Given the description of an element on the screen output the (x, y) to click on. 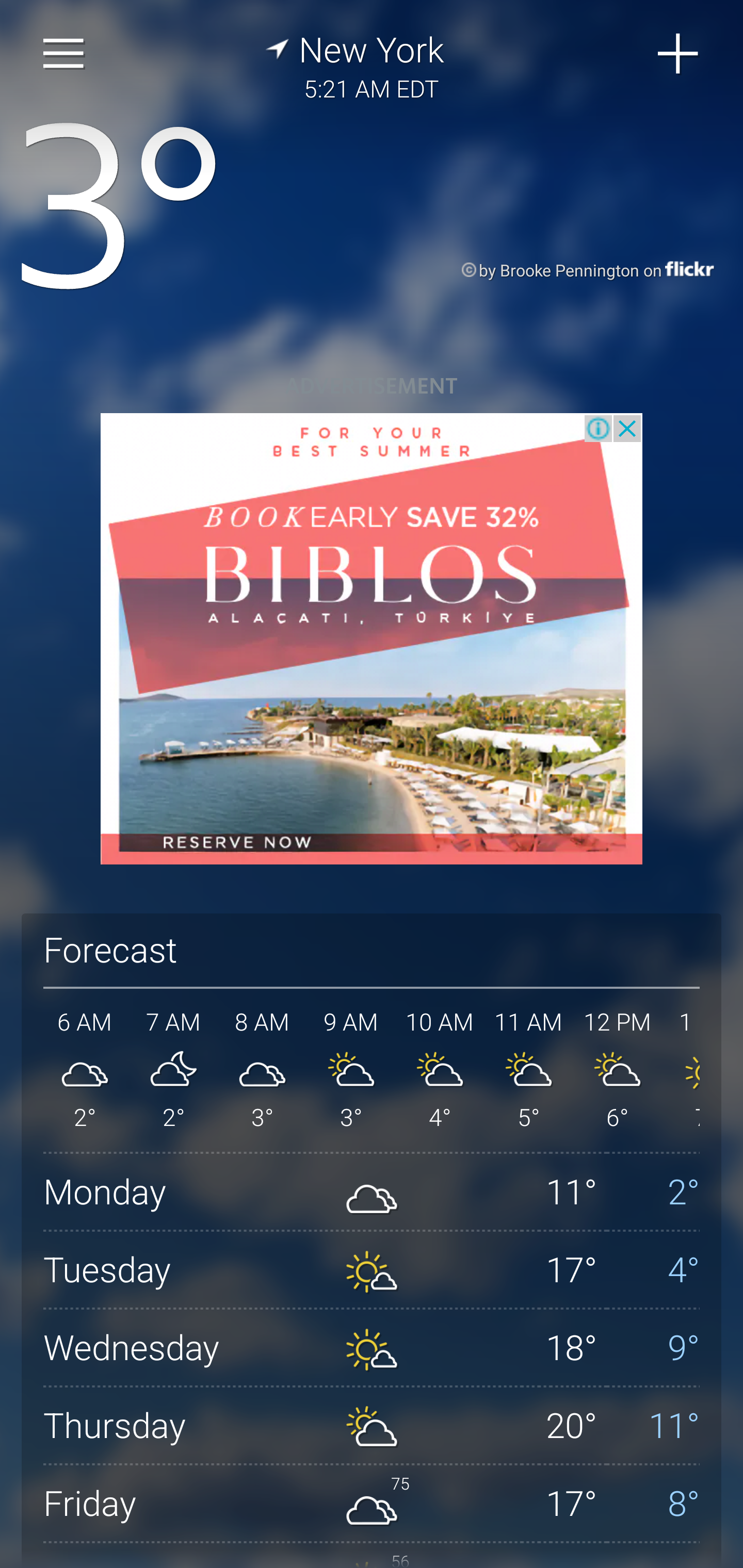
Sidebar (64, 54)
Add City (678, 53)
biblosresorts (371, 638)
